Given the description of an element on the screen output the (x, y) to click on. 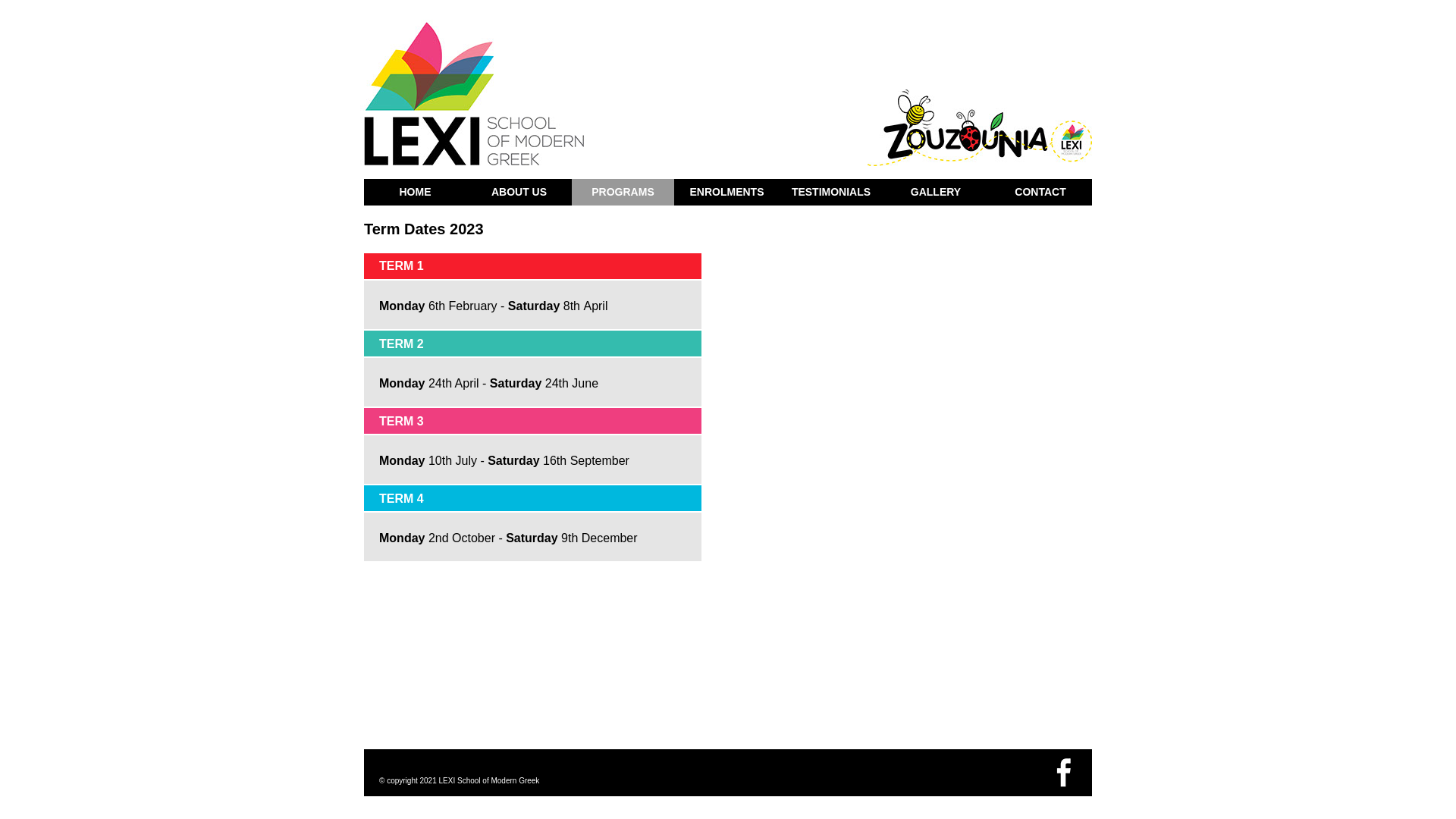
ENROLMENTS Element type: text (726, 191)
CONTACT Element type: text (1040, 191)
HOME Element type: text (415, 191)
ABOUT US Element type: text (518, 191)
TESTIMONIALS Element type: text (830, 191)
PROGRAMS Element type: text (622, 191)
GALLERY Element type: text (935, 191)
